Given the description of an element on the screen output the (x, y) to click on. 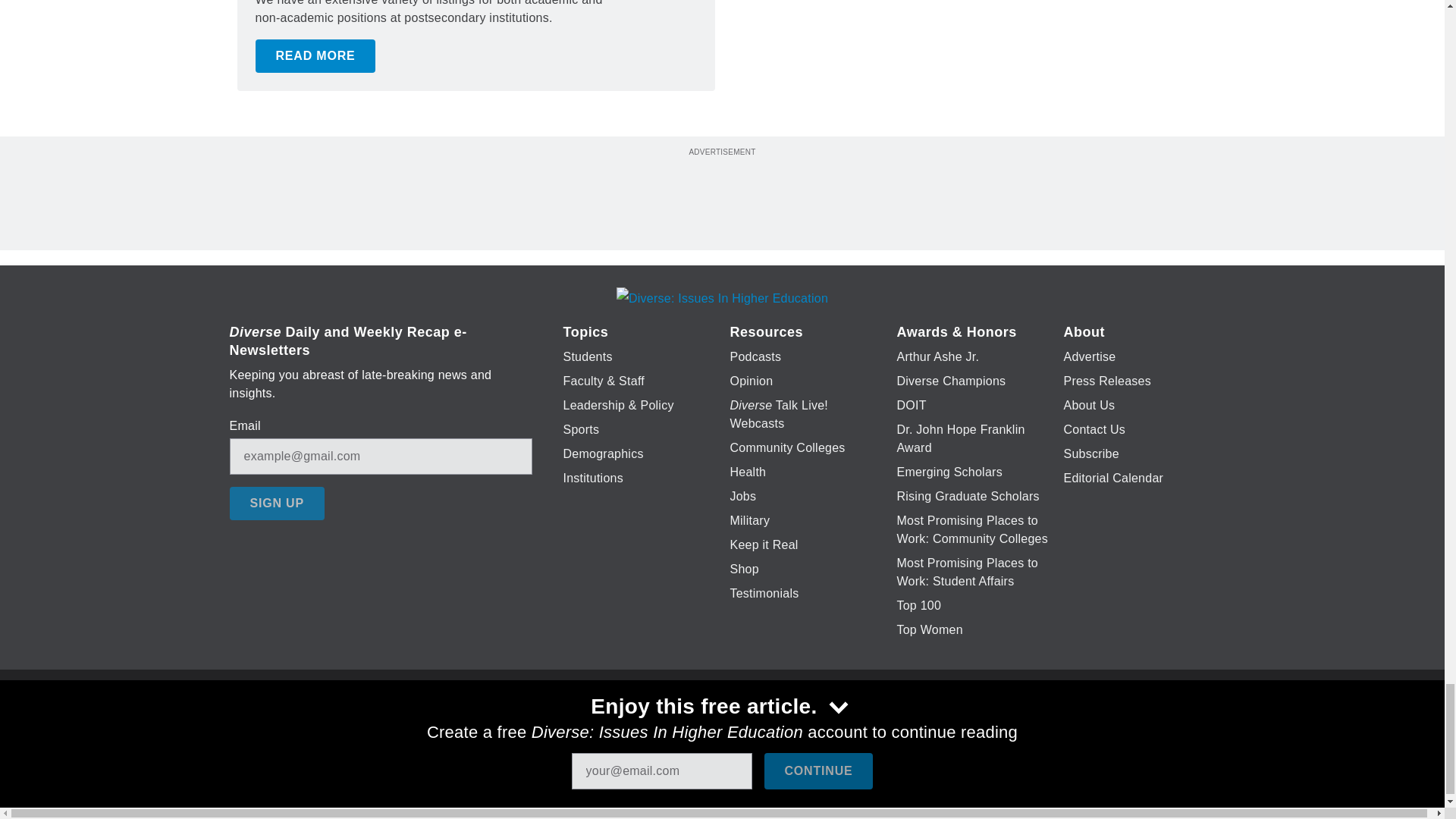
Facebook icon (635, 727)
LinkedIn icon (718, 727)
YouTube icon (757, 727)
Instagram icon (796, 727)
Twitter X icon (674, 727)
